Given the description of an element on the screen output the (x, y) to click on. 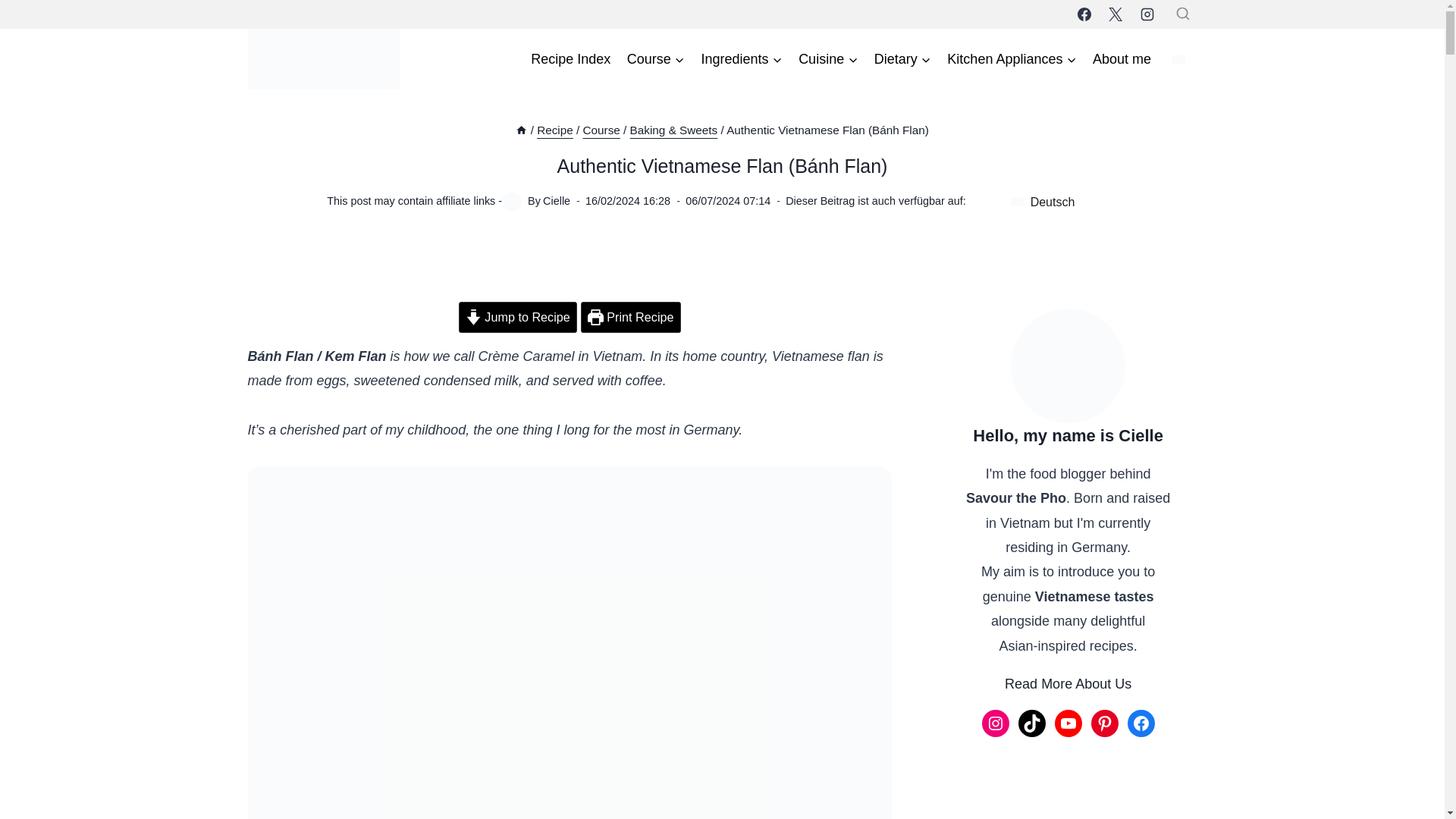
Recipe Index (570, 58)
Course (655, 58)
Ingredients (741, 58)
Cuisine (828, 58)
Deutsch (1017, 201)
Deutsch (1042, 202)
Deutsch (1178, 59)
